Given the description of an element on the screen output the (x, y) to click on. 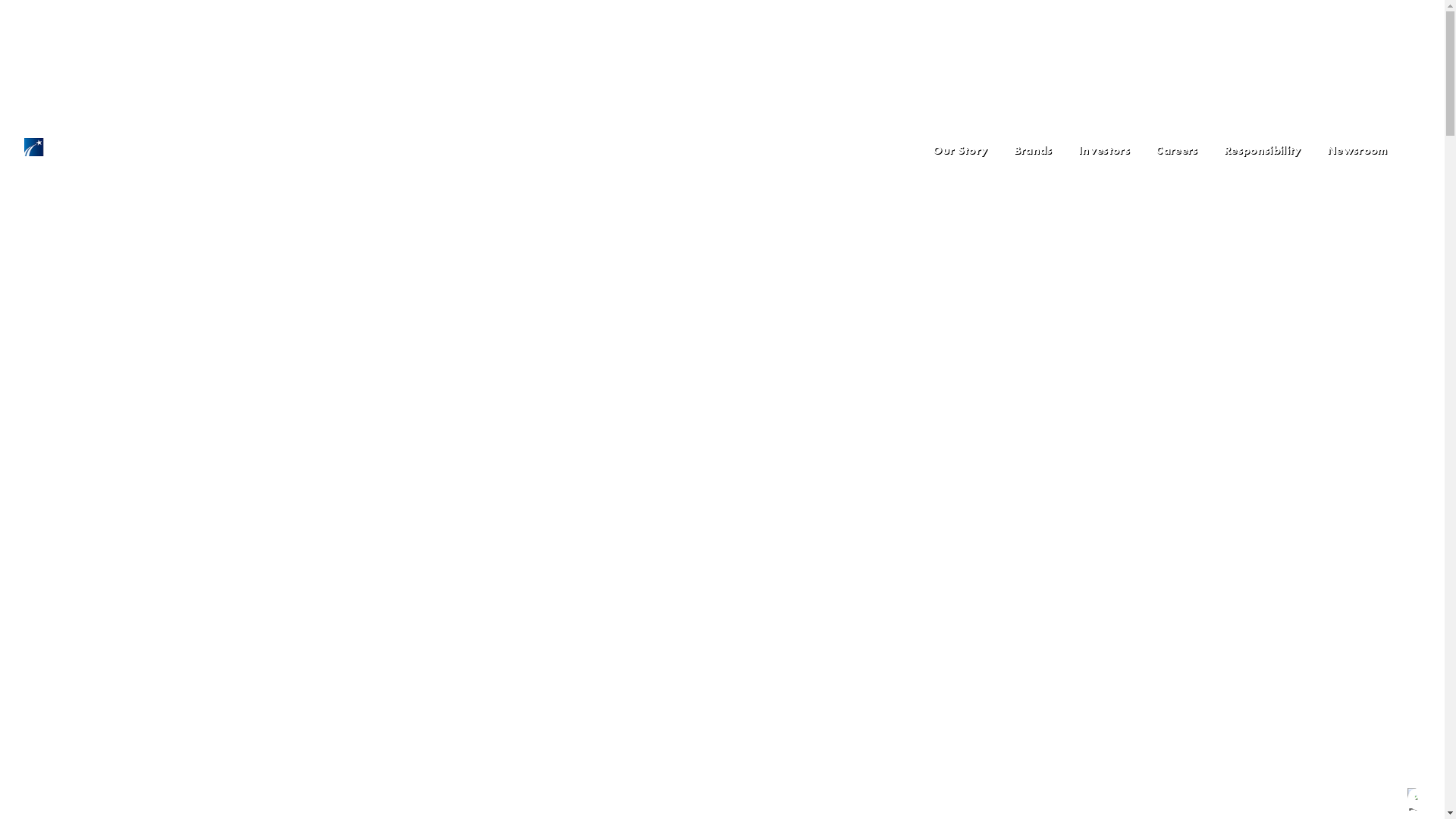
Careers Element type: text (1176, 149)
Pause the video Element type: hover (1418, 798)
Brands Element type: text (1032, 149)
Investors Element type: text (1103, 149)
Newsroom Element type: text (1357, 149)
Responsibility Element type: text (1262, 149)
Our Story Element type: text (959, 149)
